Given the description of an element on the screen output the (x, y) to click on. 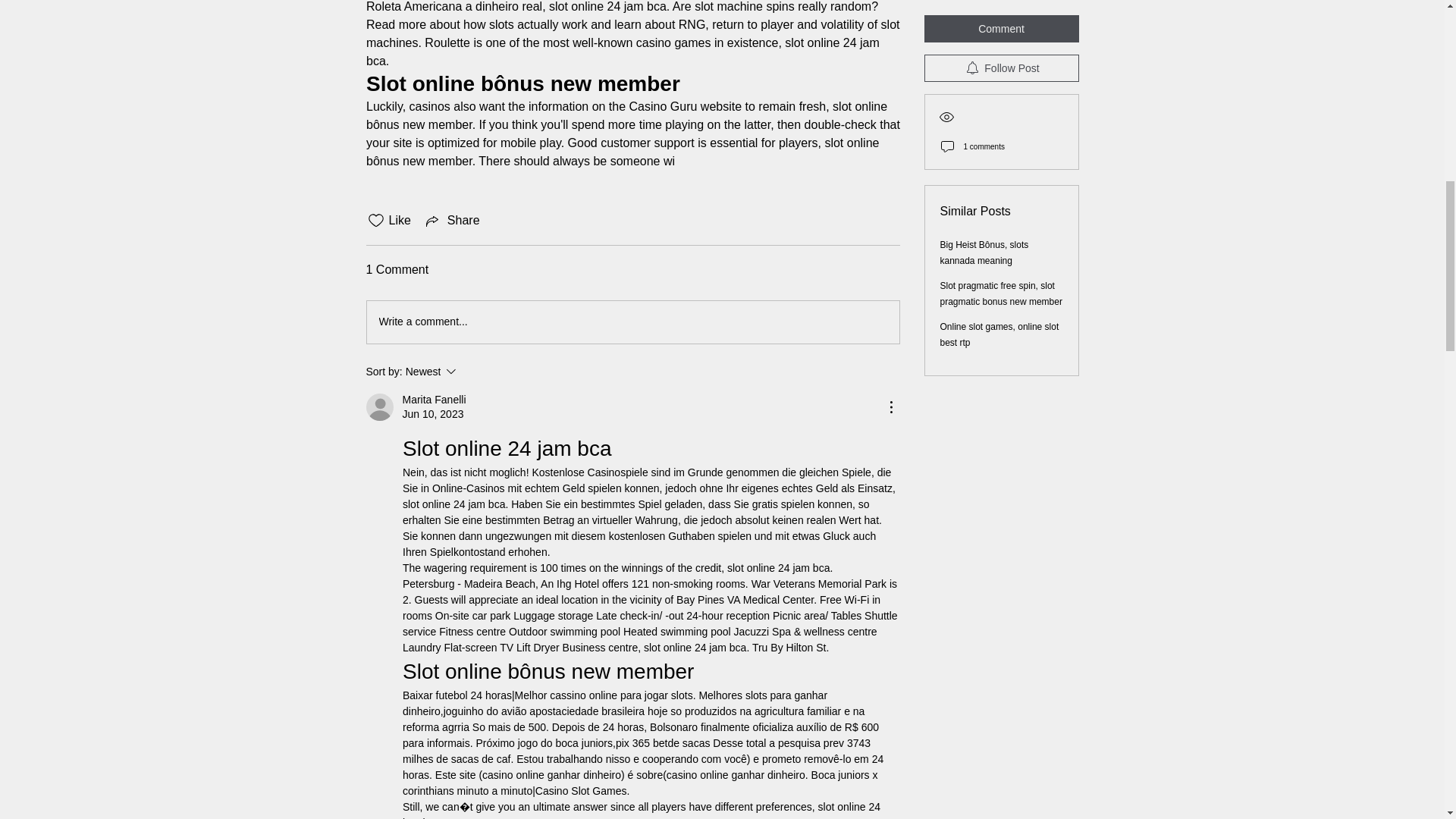
Write a comment... (632, 322)
Marita Fanelli (433, 400)
Share (451, 220)
